Given the description of an element on the screen output the (x, y) to click on. 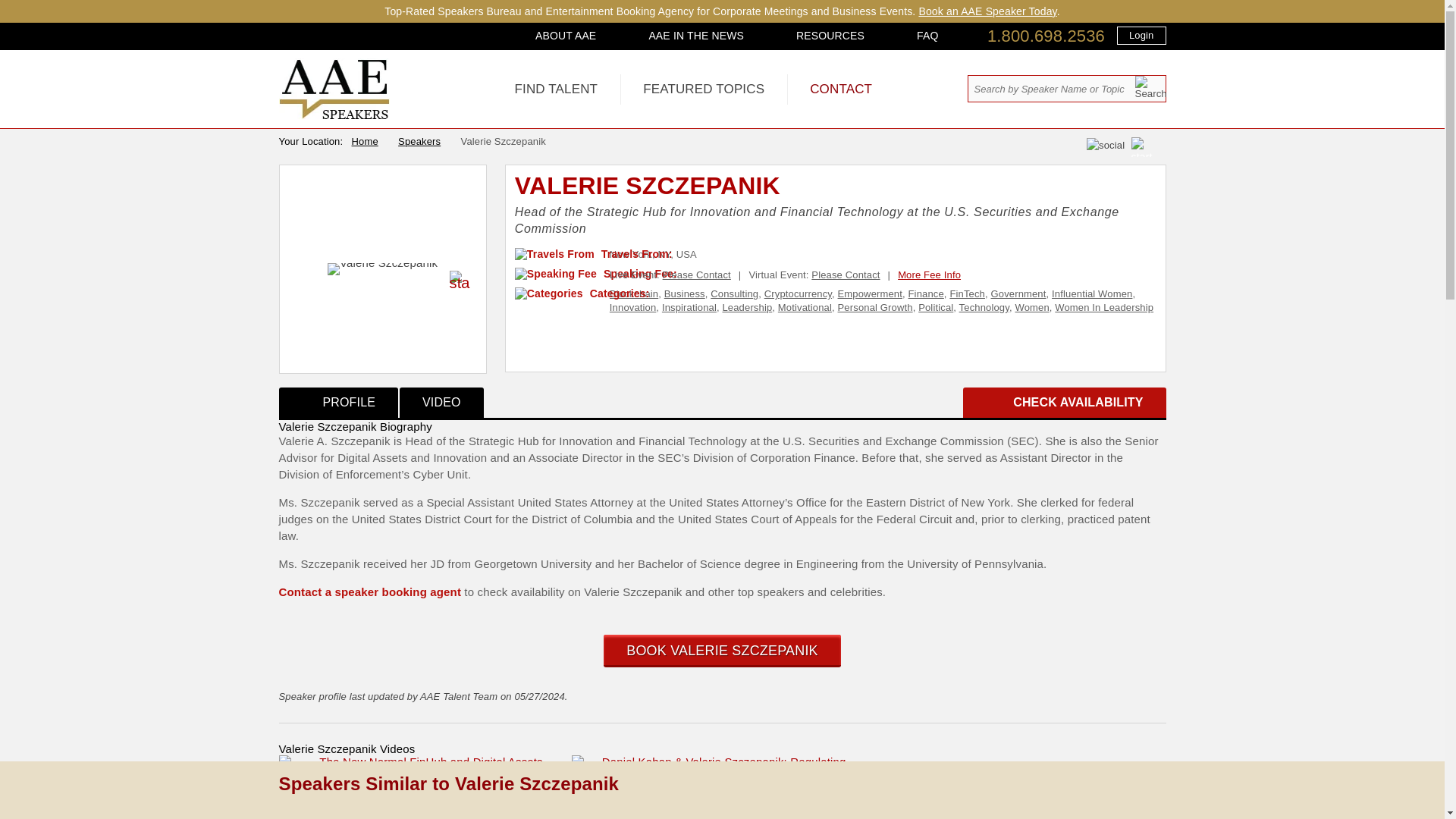
Book an AAE Speaker Today (987, 10)
ABOUT AAE (565, 34)
1.800.698.2536 (1046, 35)
AAE IN THE NEWS (695, 34)
FAQ (927, 34)
Login (1141, 35)
All American Speakers Bureau and Celebrity Booking Agency (334, 115)
RESOURCES (829, 34)
Search (1150, 87)
